Given the description of an element on the screen output the (x, y) to click on. 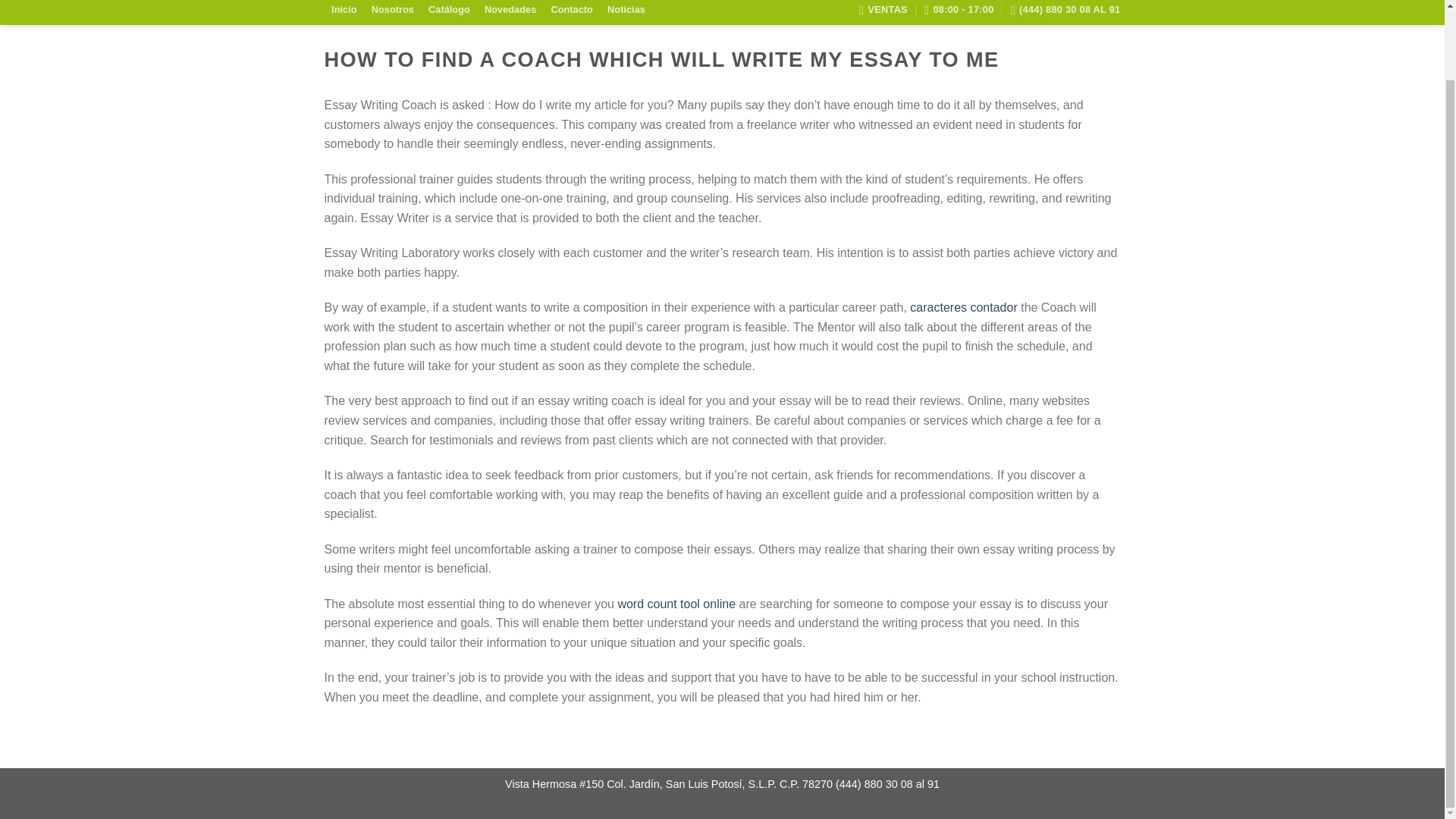
Noticias (625, 11)
Inicio (344, 11)
Contacto (571, 11)
08:00 - 17:00  (958, 12)
Novedades (510, 11)
caracteres contador (963, 307)
word count tool online (676, 603)
08:00 - 17:00 (958, 12)
VENTAS (883, 12)
Nosotros (392, 11)
